Given the description of an element on the screen output the (x, y) to click on. 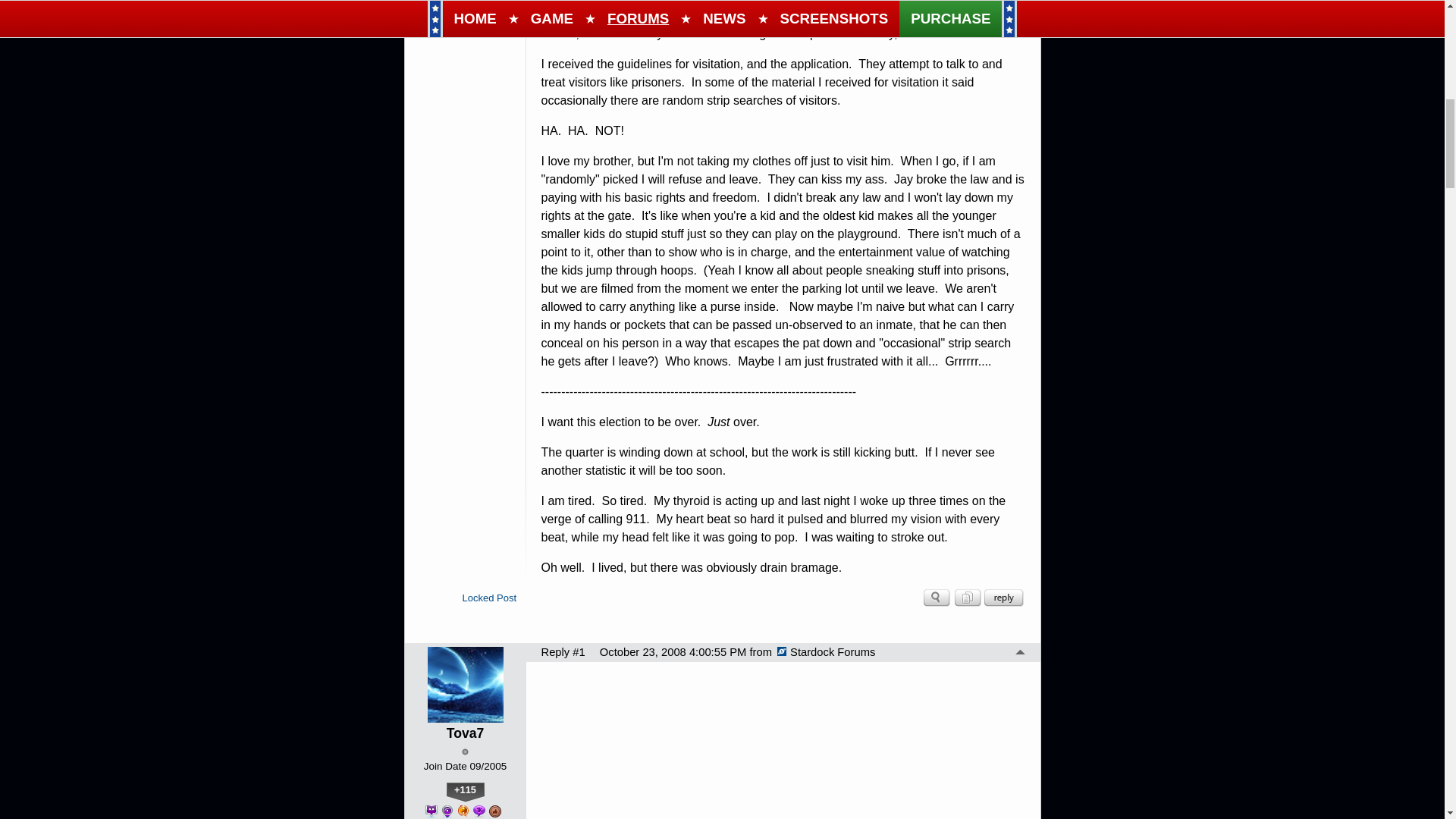
Rank: 1 (464, 751)
Reply to this post (1003, 597)
Click user name to view more options. (465, 733)
Search this post (936, 597)
View edits made to this post (966, 597)
